Given the description of an element on the screen output the (x, y) to click on. 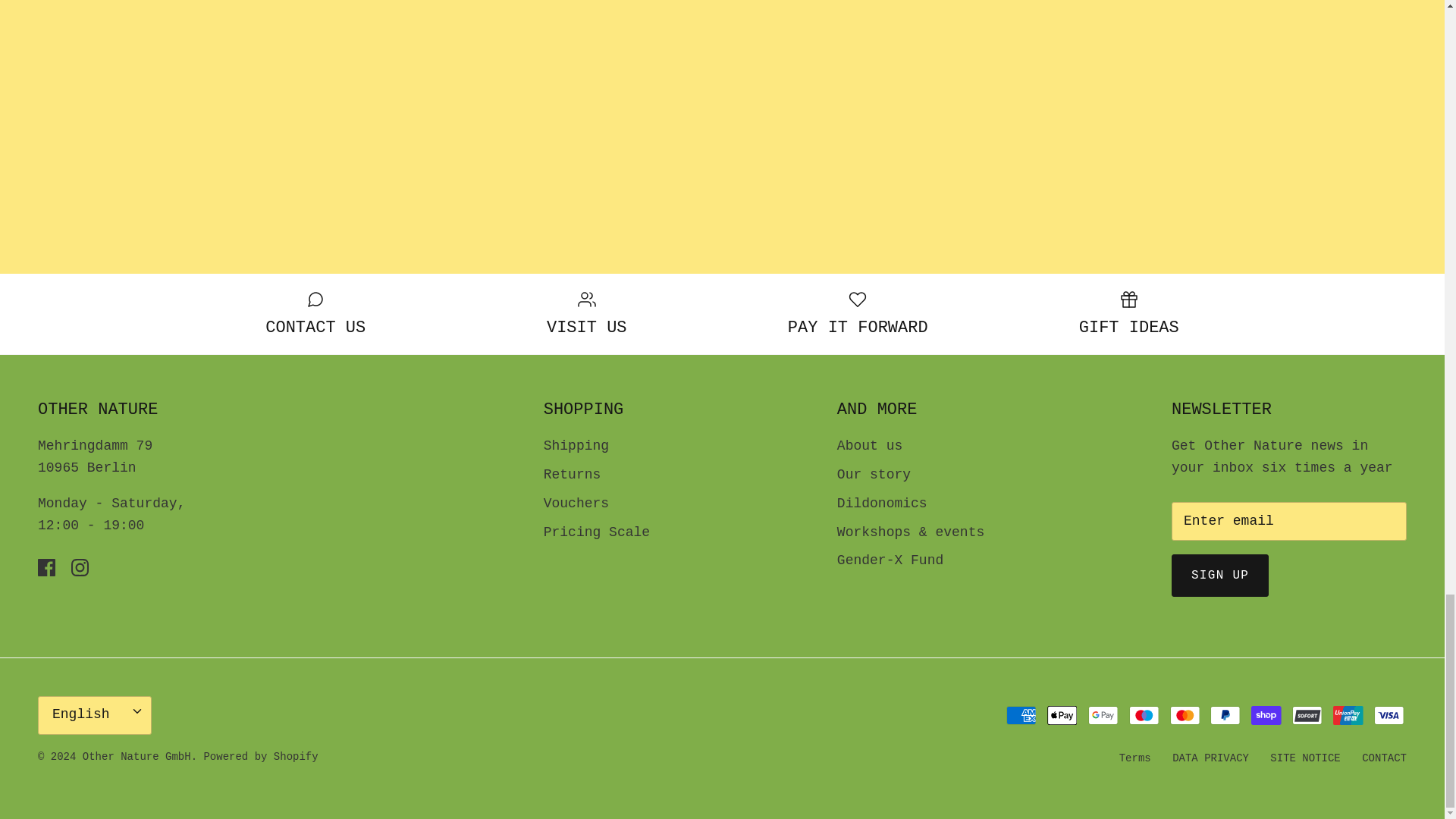
Facebook (46, 567)
American Express (1021, 714)
Instagram (79, 567)
